Given the description of an element on the screen output the (x, y) to click on. 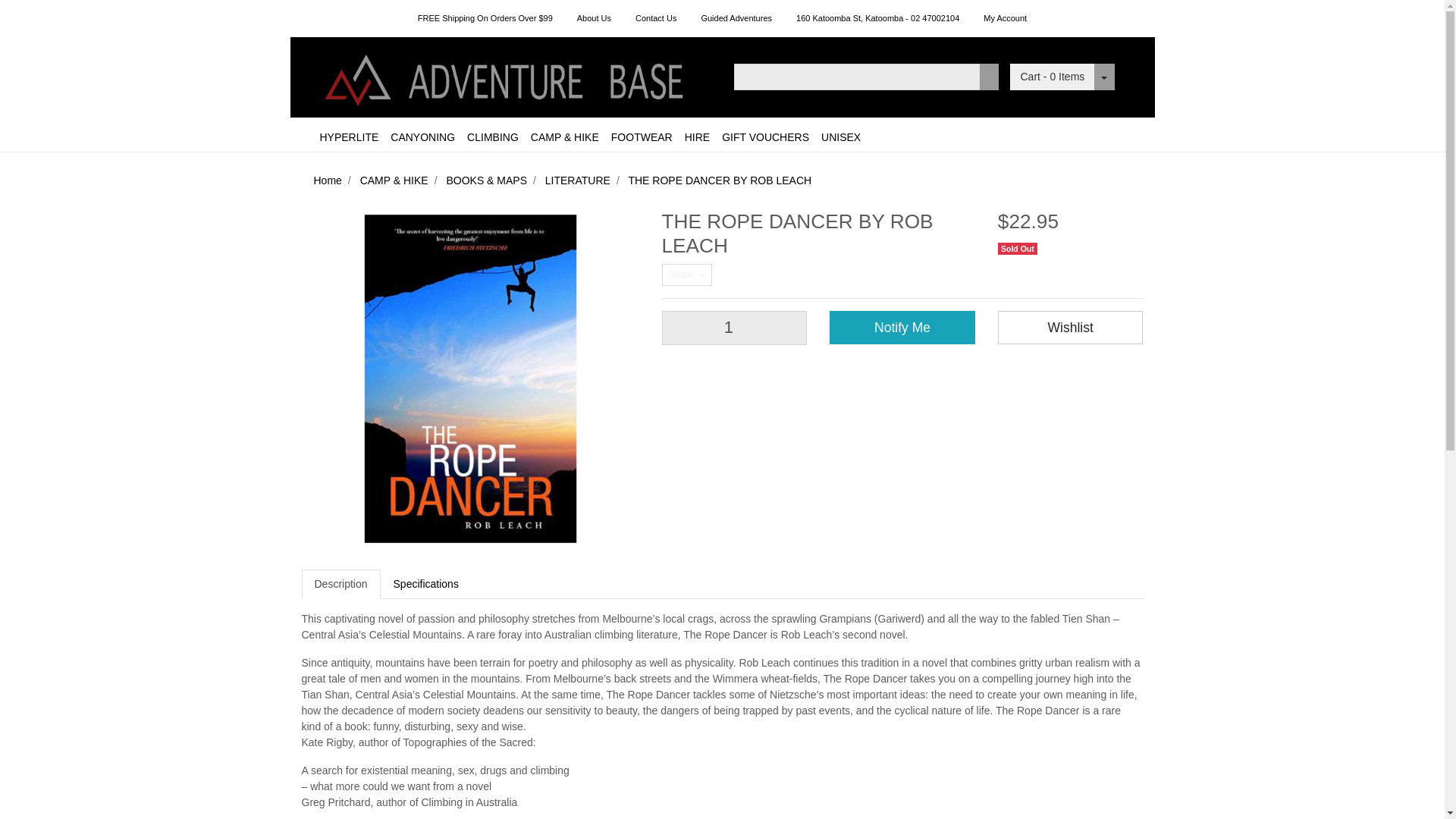
HYPERLITE (349, 137)
Notify Me When THE ROPE DANCER BY ROB LEACH Is Back In Stock (902, 327)
Cart - 0 Items (1052, 76)
Contact Us (655, 18)
CANYONING (422, 137)
Add To Wishlist (1069, 327)
About Us (593, 18)
My Account (1005, 18)
1 (733, 327)
Guided Adventures (736, 18)
Adventure Base (506, 76)
CLIMBING (492, 137)
160 Katoomba St, Katoomba - 02 47002104 (877, 18)
